Given the description of an element on the screen output the (x, y) to click on. 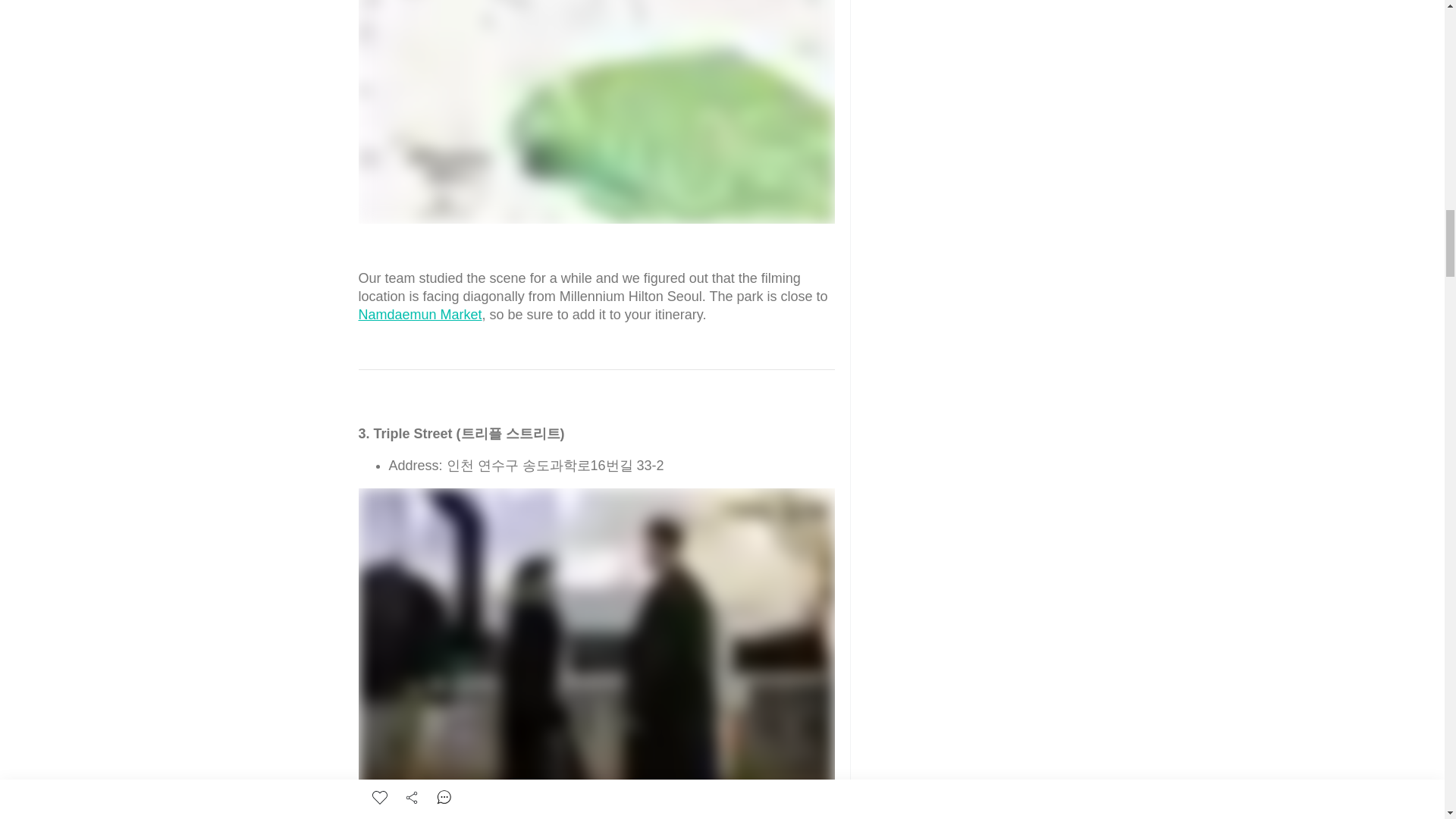
Namdaemun Market (419, 314)
